Given the description of an element on the screen output the (x, y) to click on. 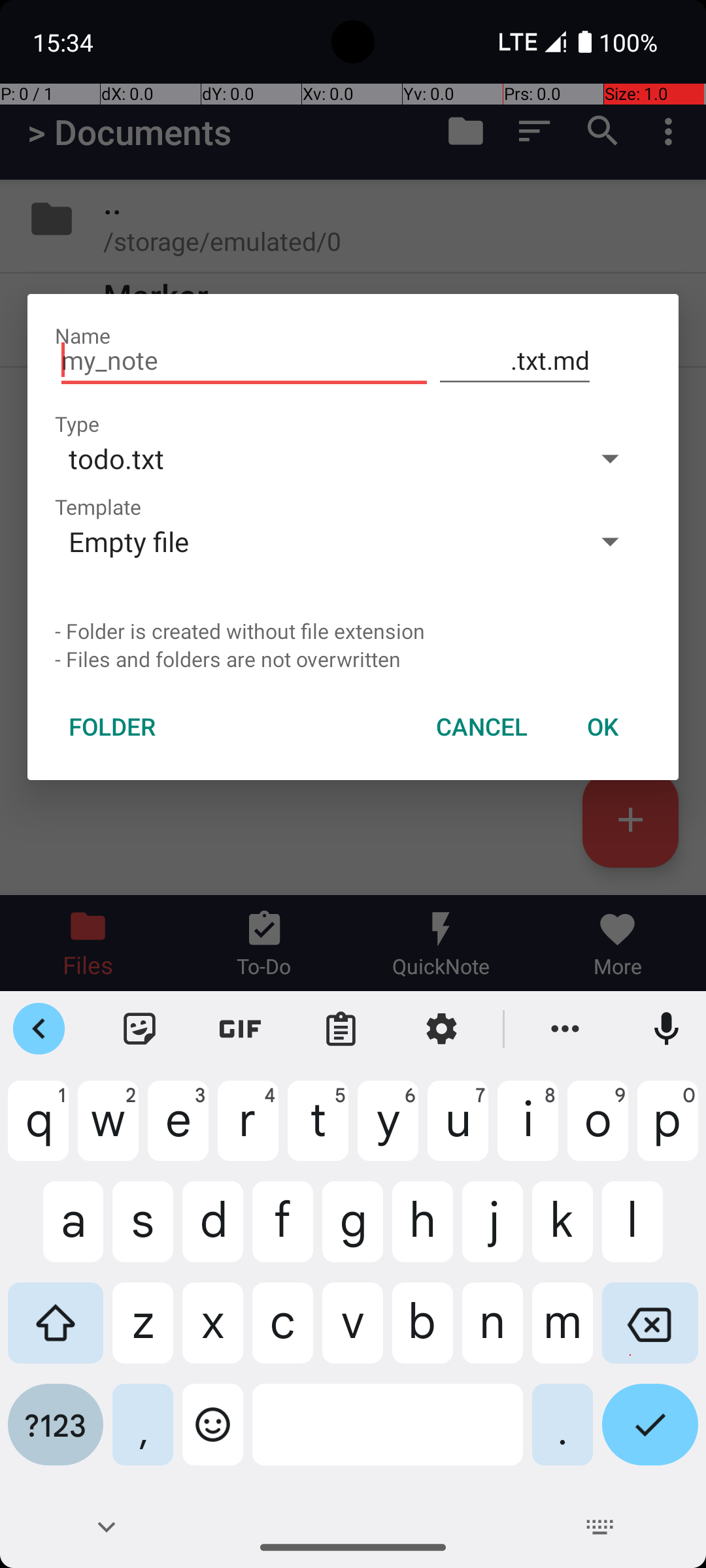
.txt.md Element type: android.widget.EditText (514, 360)
